Given the description of an element on the screen output the (x, y) to click on. 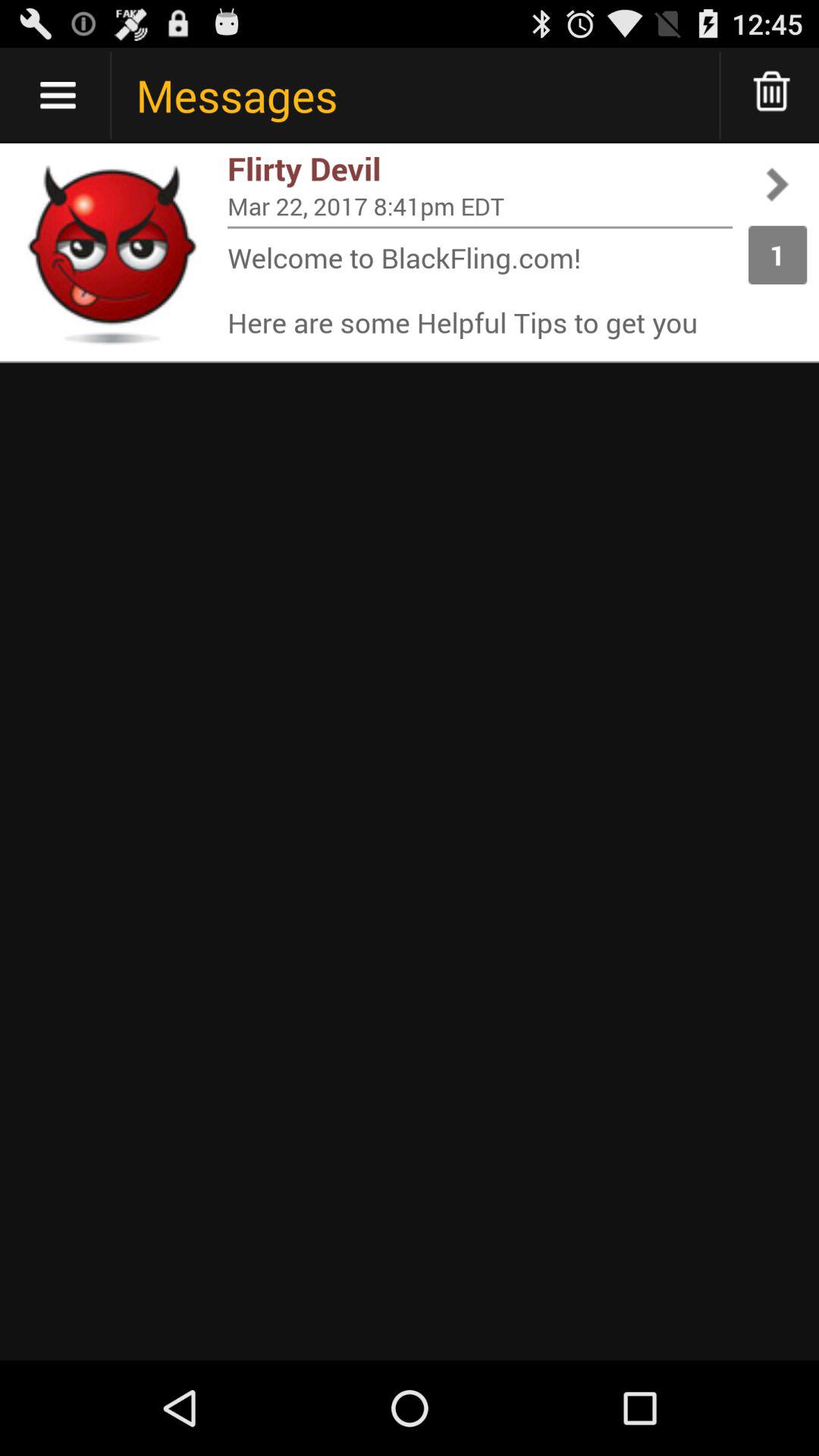
flip until the flirty devil app (479, 168)
